Given the description of an element on the screen output the (x, y) to click on. 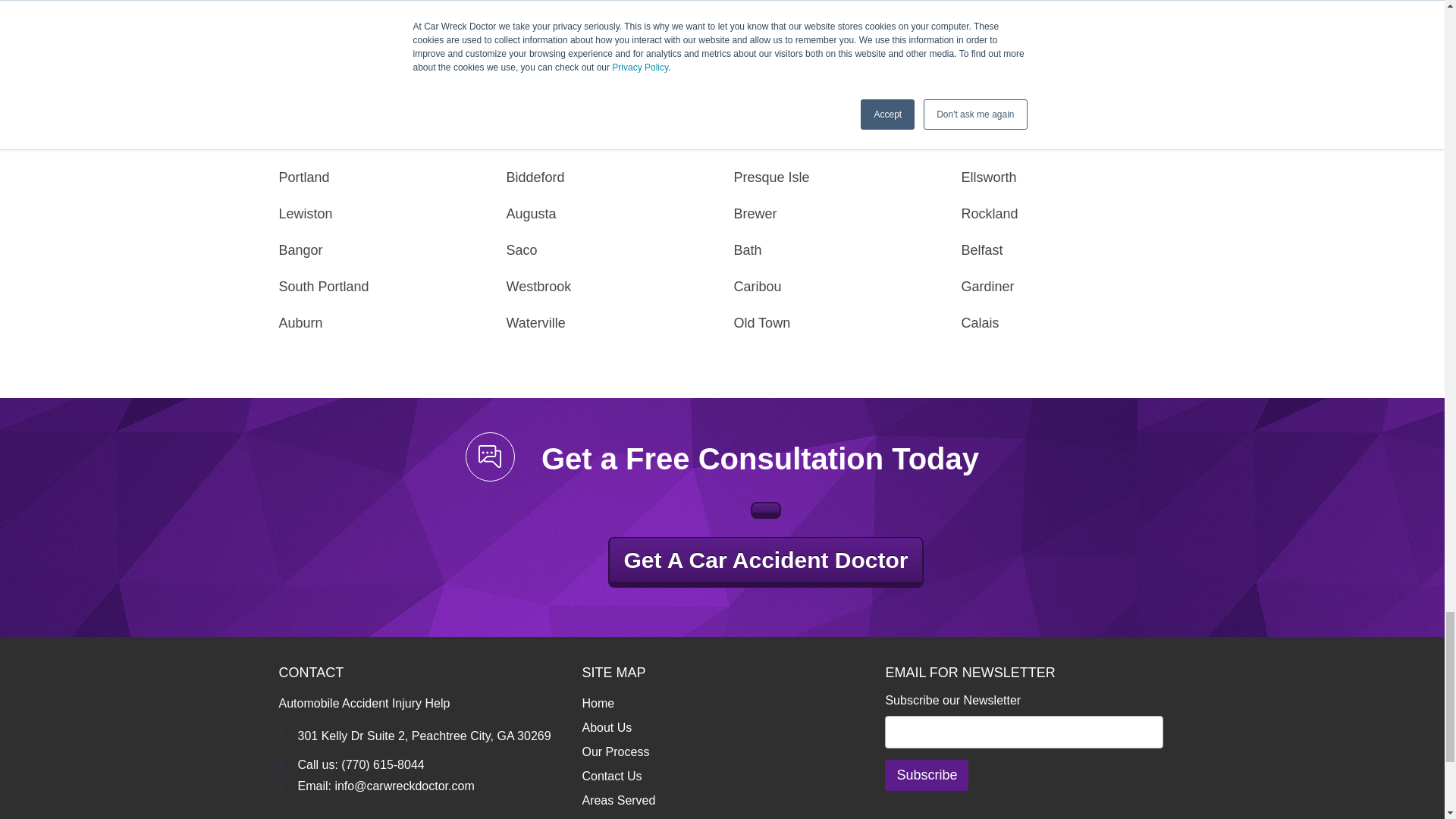
Get A Car Accident Doctor (765, 510)
Get A Car Accident Doctor (765, 562)
Subscribe (926, 775)
icon-24.png (489, 456)
